Given the description of an element on the screen output the (x, y) to click on. 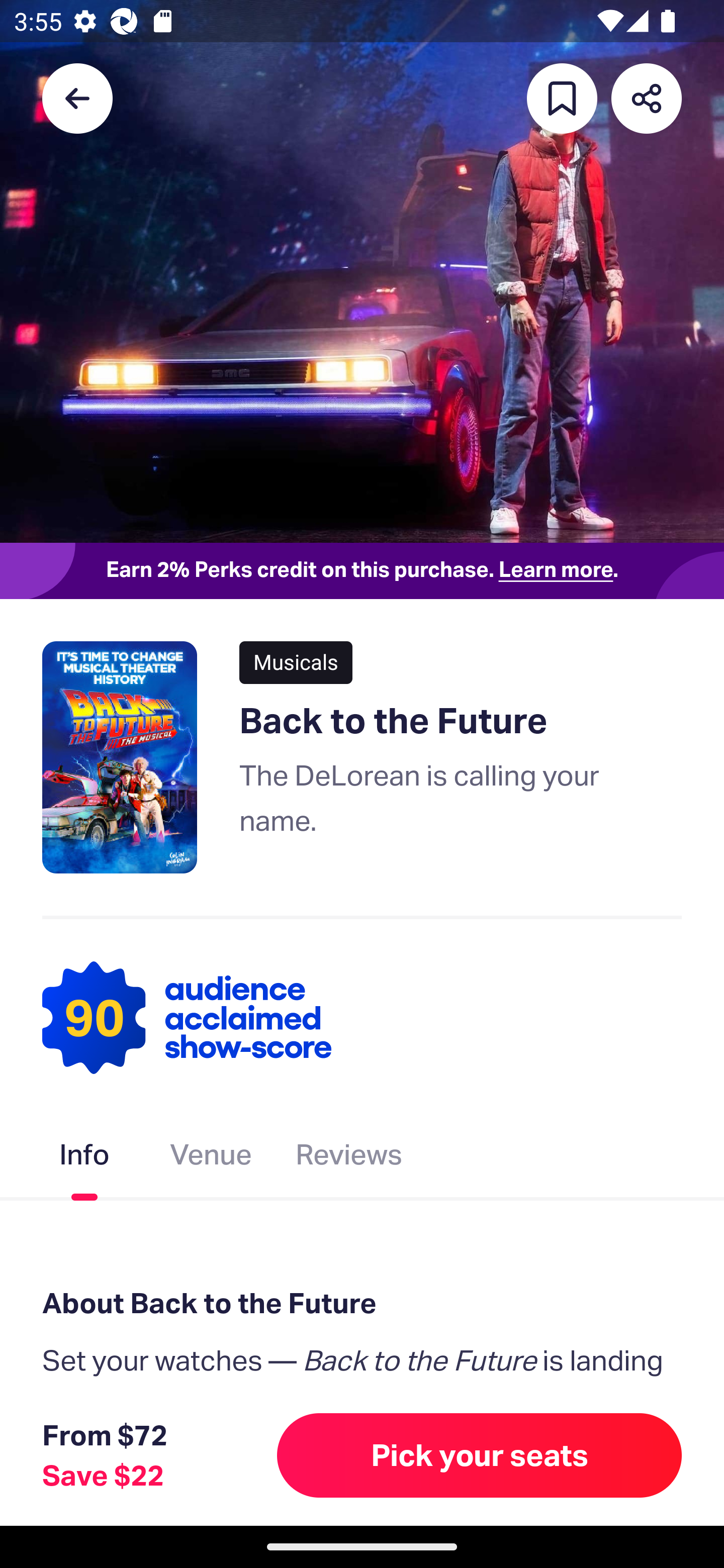
Earn 2% Perks credit on this purchase. Learn more. (362, 570)
Venue (210, 1158)
Reviews (348, 1158)
About Back to the Future (361, 1303)
Pick your seats (479, 1454)
